Given the description of an element on the screen output the (x, y) to click on. 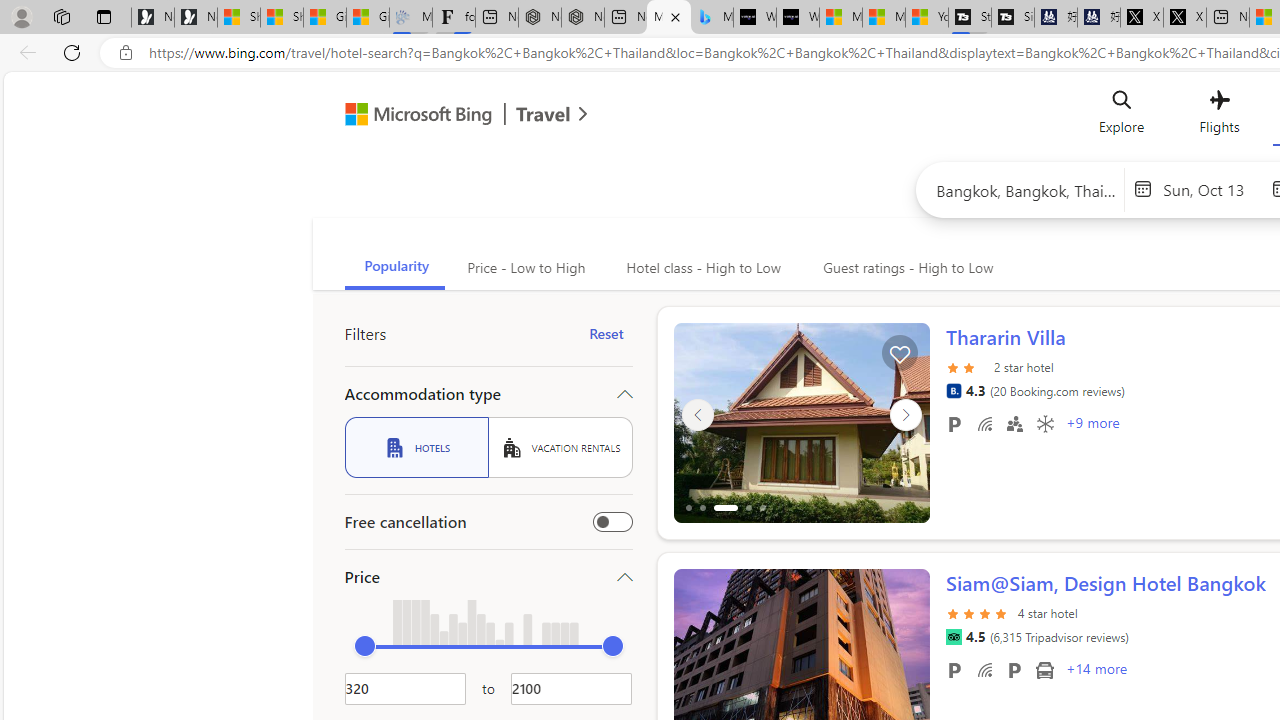
AutomationID: TextField877 (571, 688)
AutomationID: TextField872 (405, 688)
Price - Low to High (524, 268)
Tripadvisor (953, 637)
Start Date (1212, 188)
Airport transportation (1044, 669)
VACATION RENTALS (560, 447)
Slide 3 (801, 422)
